Given the description of an element on the screen output the (x, y) to click on. 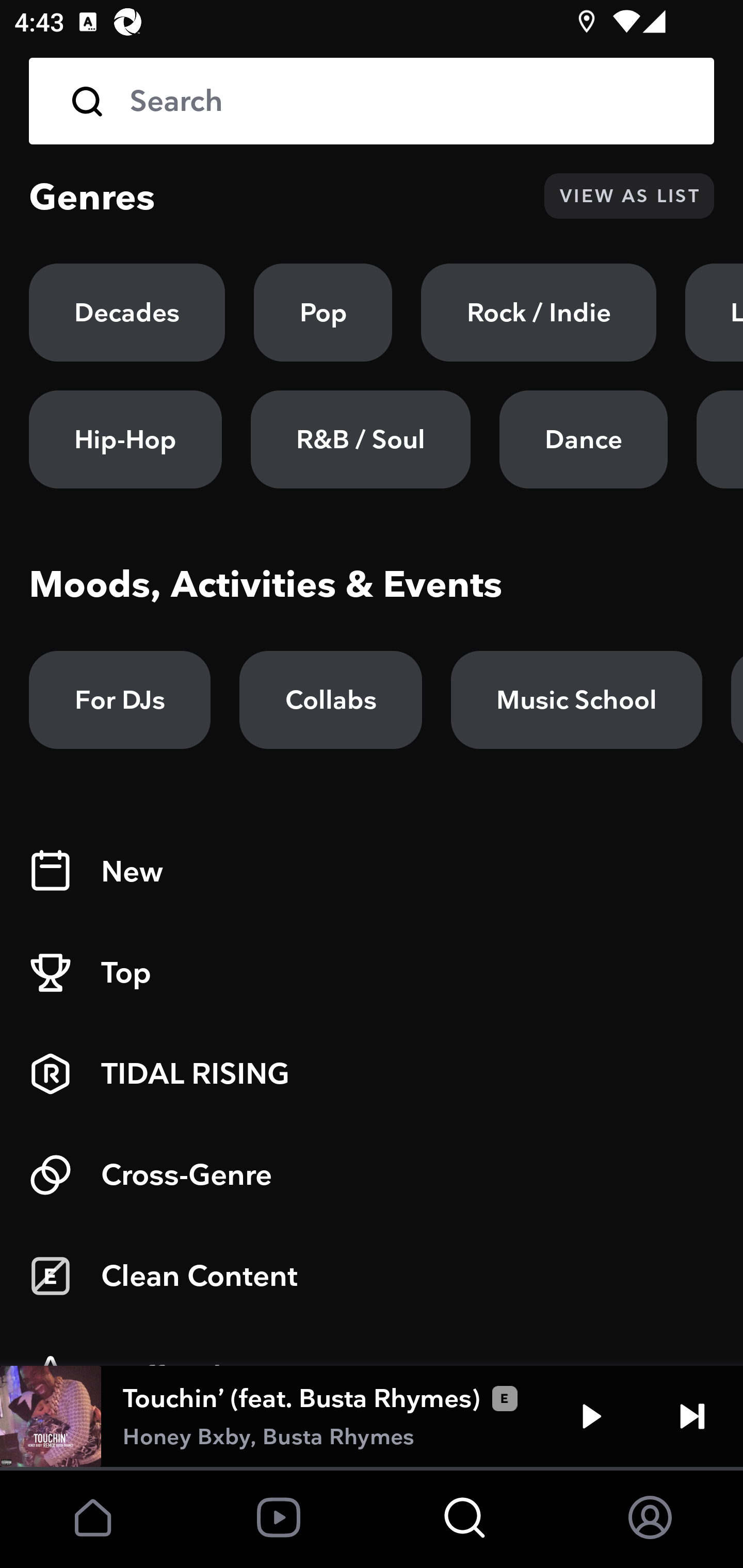
Search (371, 101)
Search (407, 100)
VIEW AS LIST (629, 195)
Decades (126, 312)
Pop (323, 312)
Rock / Indie (538, 312)
Hip-Hop (125, 439)
R&B / Soul (360, 439)
Dance (583, 439)
For DJs (119, 699)
Collabs (330, 699)
Music School (576, 699)
New (371, 871)
Top (371, 972)
TIDAL RISING (371, 1073)
Cross-Genre (371, 1175)
Clean Content (371, 1276)
Play (590, 1416)
